Given the description of an element on the screen output the (x, y) to click on. 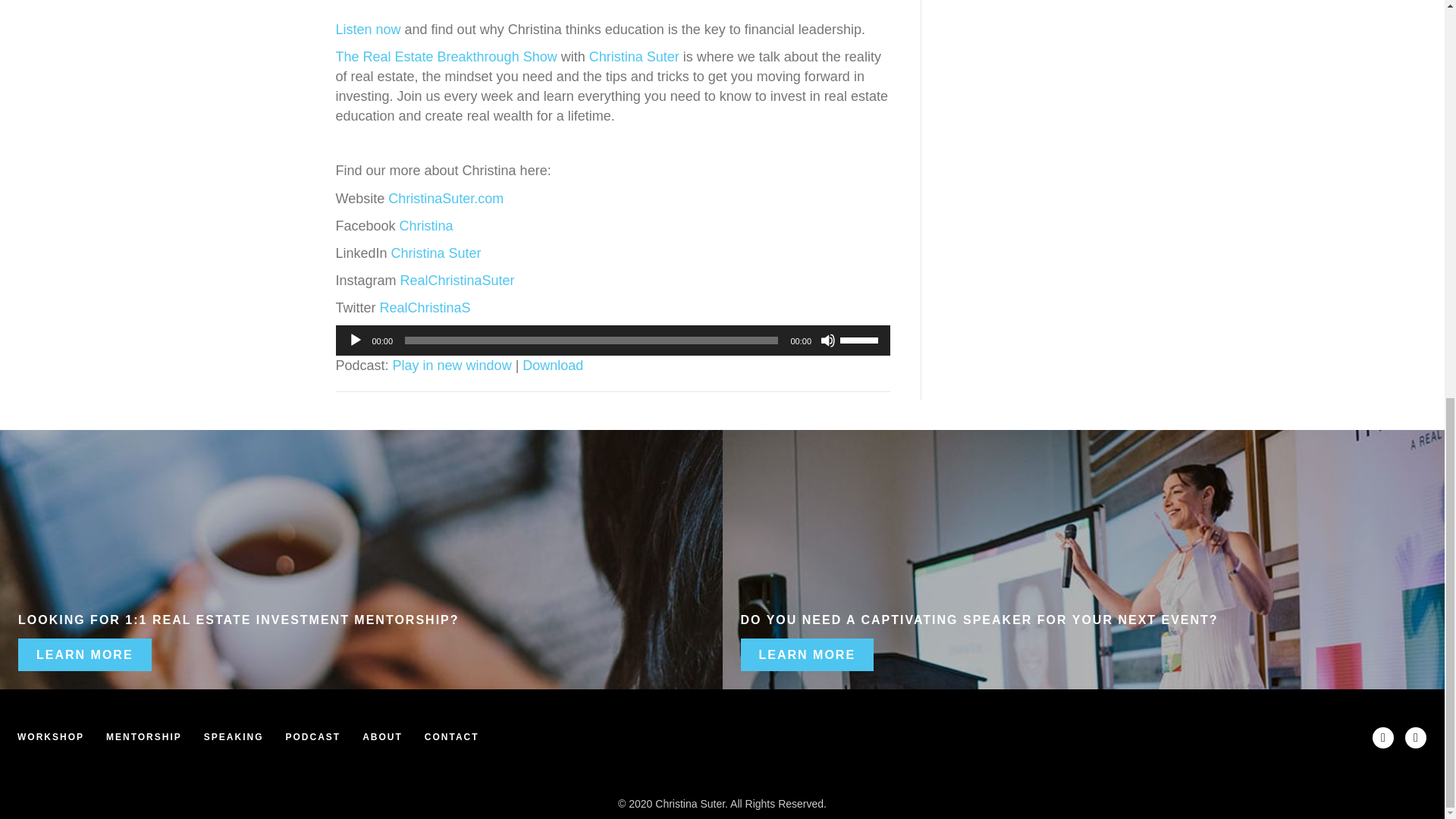
ChristinaSuter.com (445, 198)
CONTACT (451, 737)
WORKSHOP (50, 737)
Play (354, 340)
PODCAST (312, 737)
SPEAKING (234, 737)
ABOUT (382, 737)
MENTORSHIP (144, 737)
Christina Suter (436, 253)
Listen now (367, 29)
RealChristinaS (425, 307)
Download (552, 365)
Christina Suter (634, 56)
Play in new window (452, 365)
LEARN MORE (84, 654)
